Given the description of an element on the screen output the (x, y) to click on. 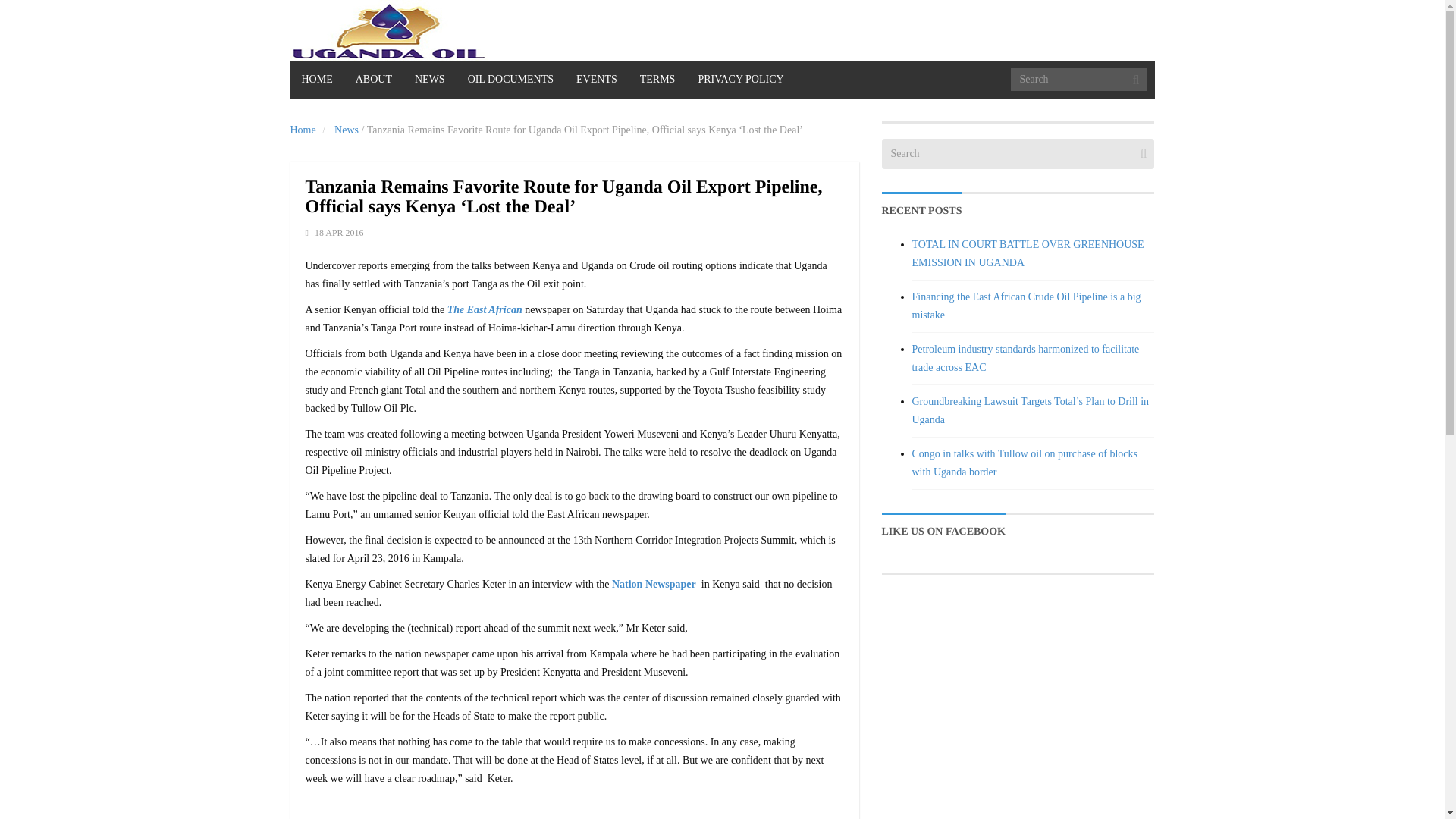
PRIVACY POLICY (739, 79)
Nation Newspaper (654, 583)
OIL DOCUMENTS (510, 79)
TOTAL IN COURT BATTLE OVER GREENHOUSE EMISSION IN UGANDA (1026, 253)
News (346, 129)
NEWS (430, 79)
The East African (484, 309)
EVENTS (596, 79)
Home (302, 129)
TERMS (657, 79)
ABOUT (373, 79)
HOME (316, 79)
